Given the description of an element on the screen output the (x, y) to click on. 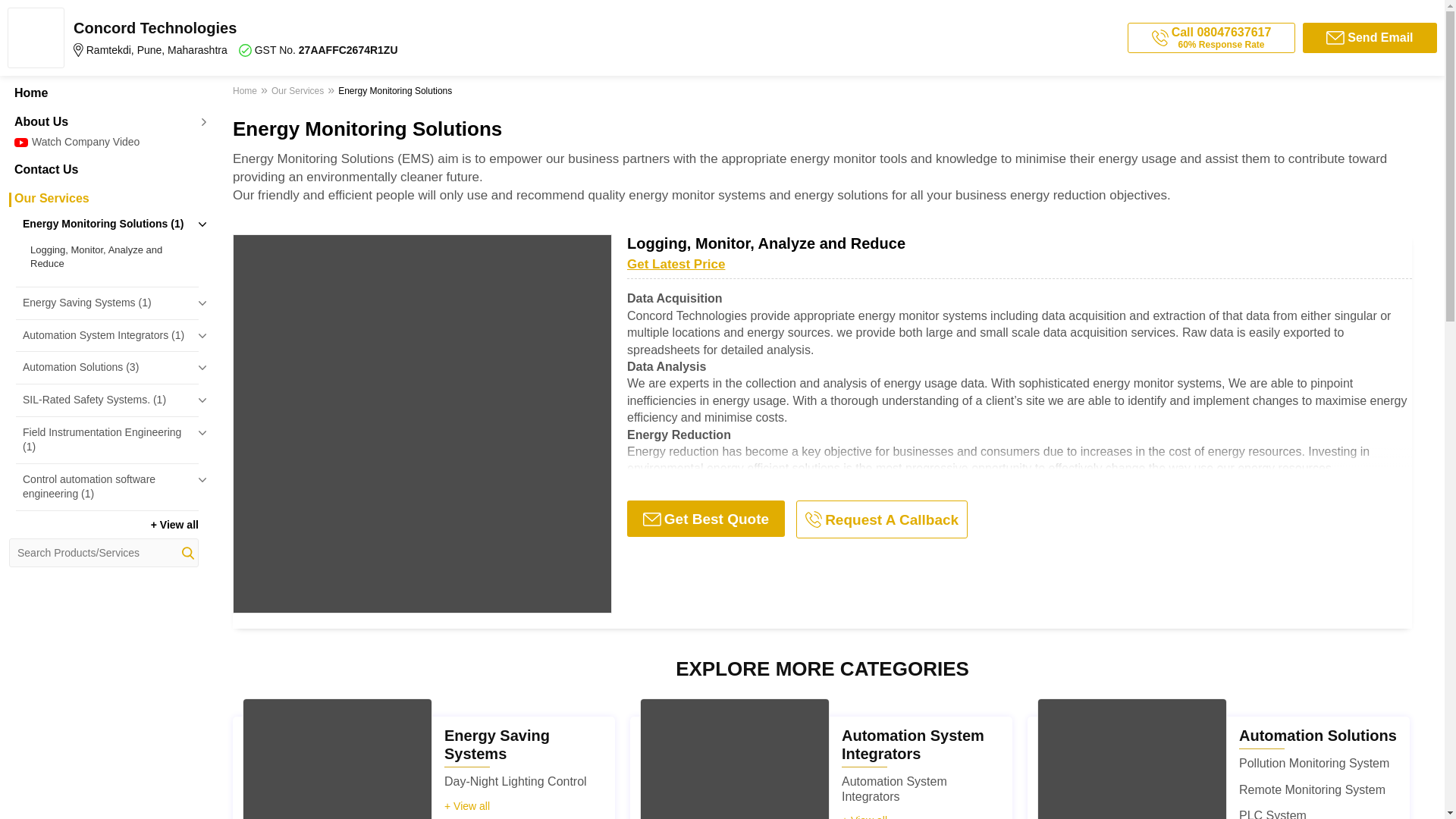
Day-Night Lighting Control (515, 780)
Home (103, 92)
About Us (103, 121)
Our Services (103, 198)
Contact Us (103, 169)
Home (246, 92)
Our Services (297, 92)
Logging, Monitor, Analyze and Reduce (110, 257)
Energy Saving Systems (497, 744)
